Given the description of an element on the screen output the (x, y) to click on. 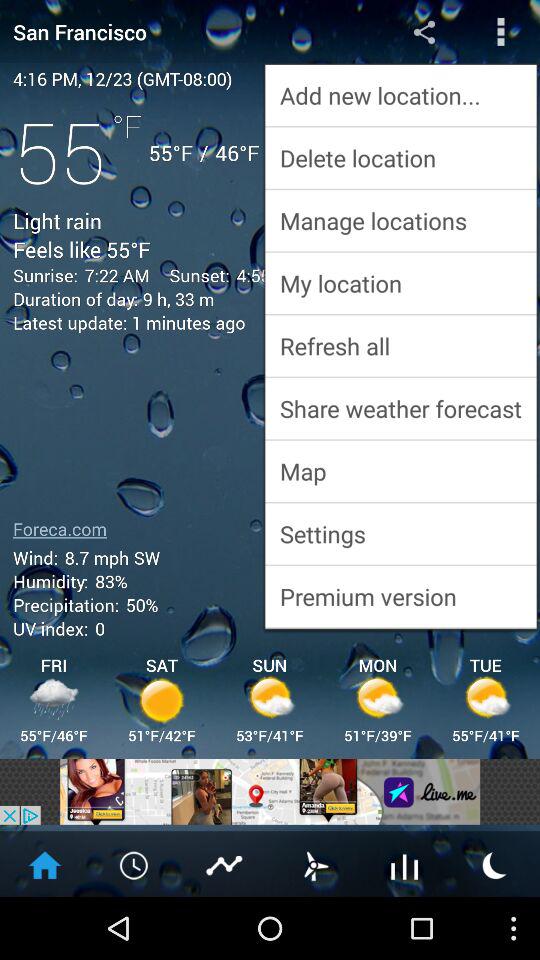
turn off my location app (400, 282)
